Given the description of an element on the screen output the (x, y) to click on. 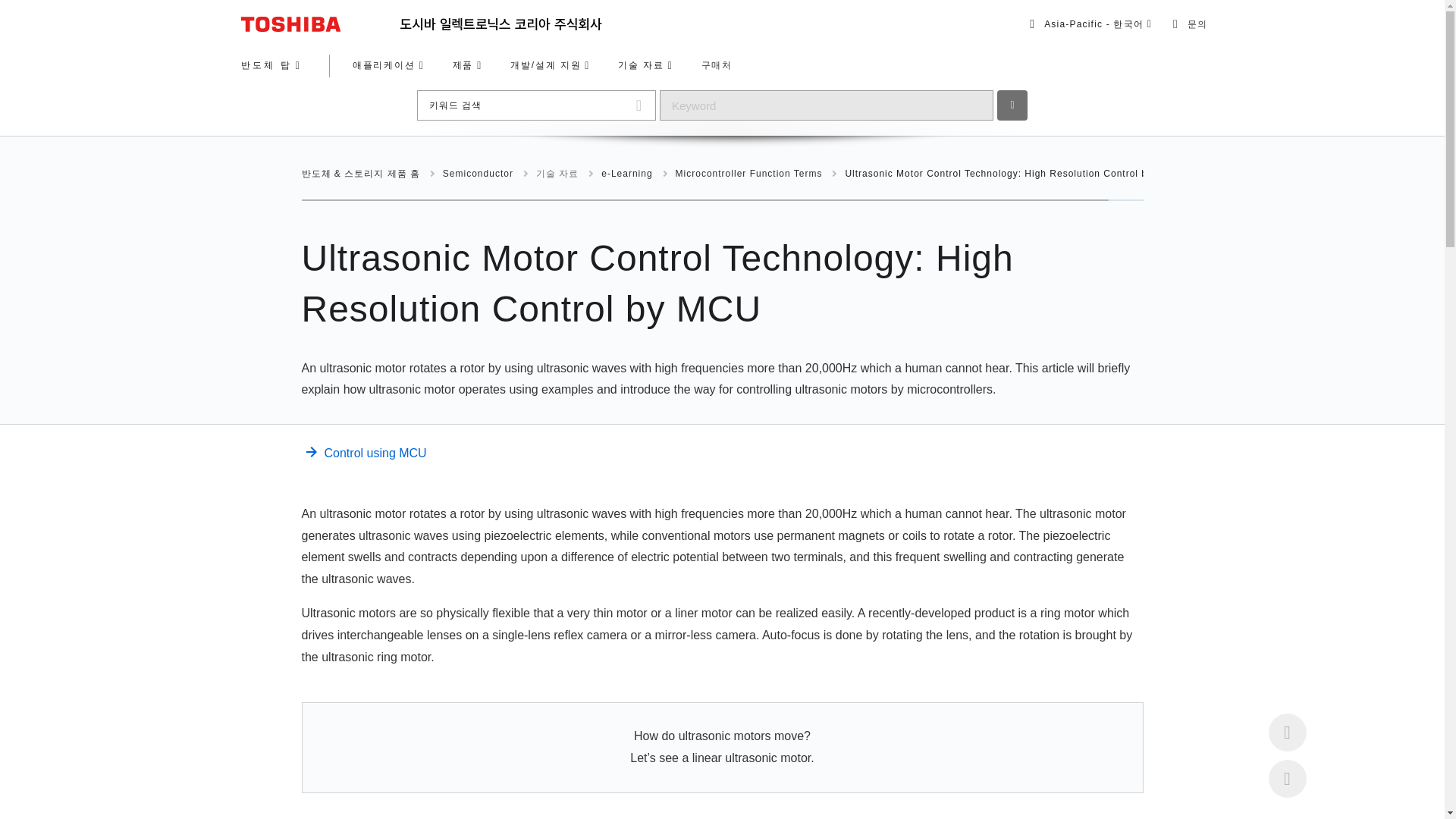
Toshiba Global Top Page (320, 24)
